Given the description of an element on the screen output the (x, y) to click on. 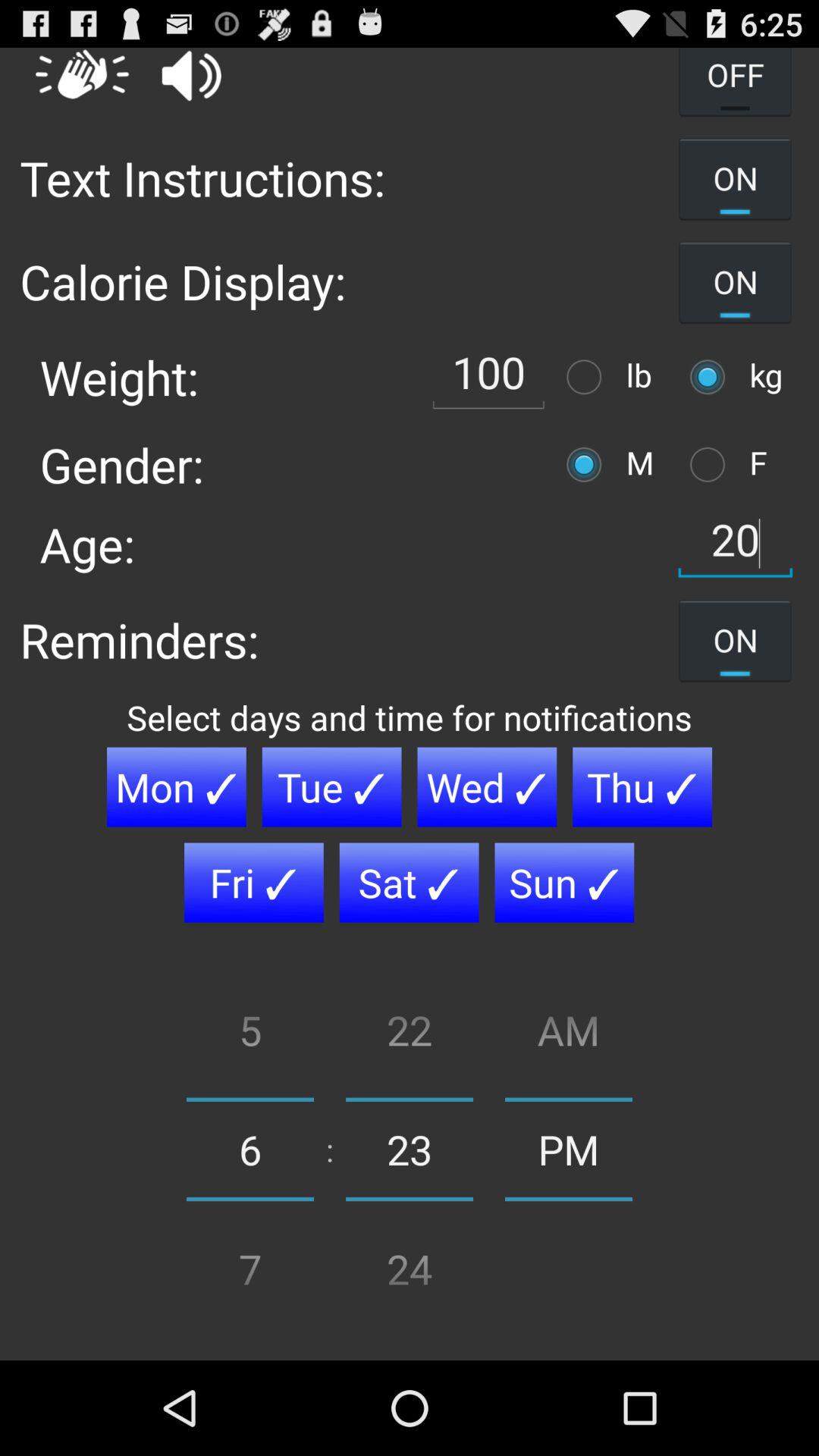
set as female (711, 464)
